Given the description of an element on the screen output the (x, y) to click on. 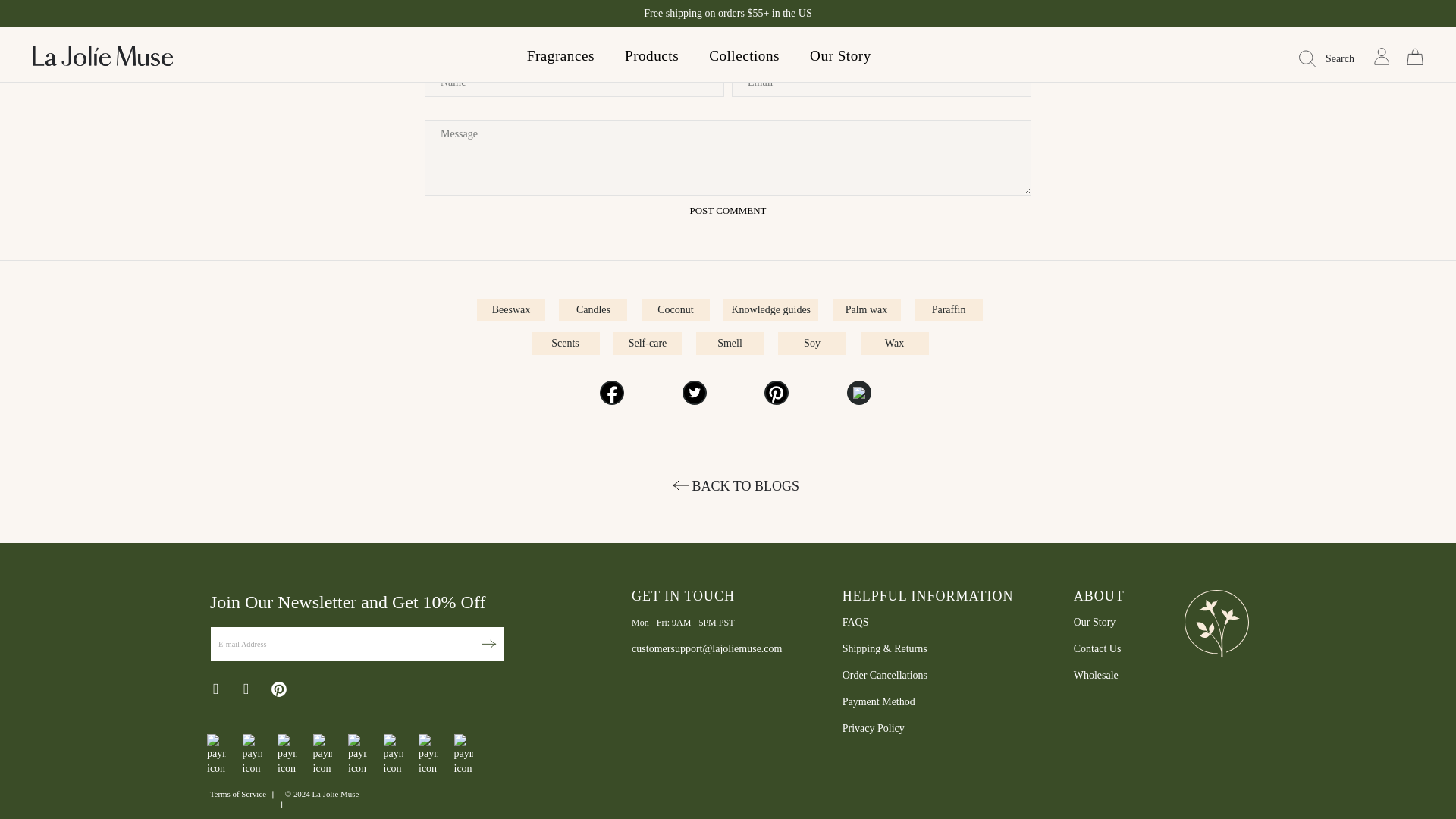
Twitter (694, 392)
LA JOLIE MUSE on Instagram (247, 688)
Post comment (726, 210)
LA JOLIE MUSE on Facebook (216, 688)
Facebook (611, 392)
Pinterest (776, 392)
LA JOLIE MUSE on Pinterest (278, 692)
